Given the description of an element on the screen output the (x, y) to click on. 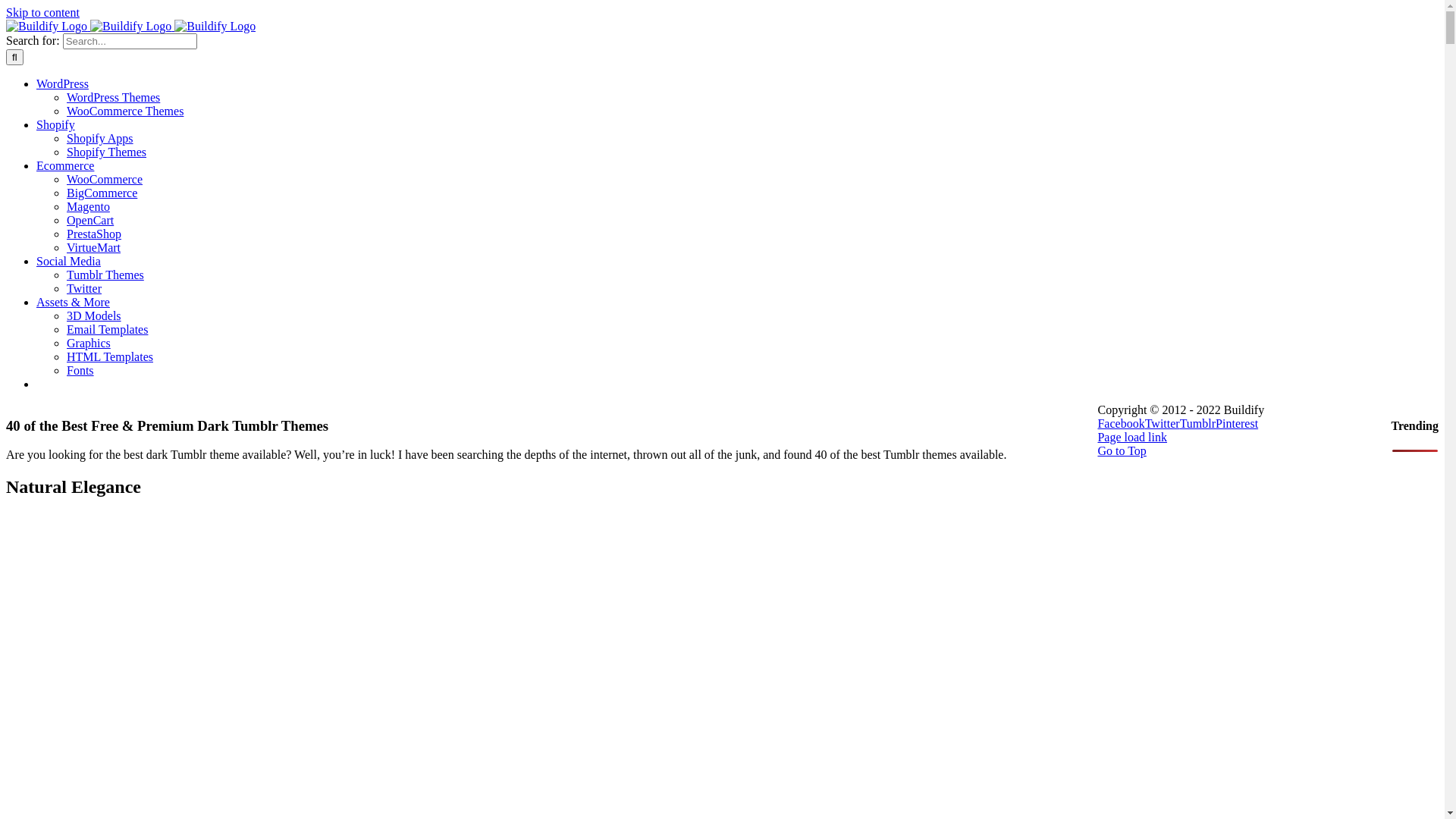
Assets & More Element type: text (72, 301)
Magento Element type: text (87, 206)
Social Media Element type: text (68, 260)
Shopify Element type: text (55, 124)
Facebook Element type: text (1120, 423)
BigCommerce Element type: text (101, 192)
WooCommerce Themes Element type: text (124, 110)
Pinterest Element type: text (1236, 423)
Tumblr Themes Element type: text (105, 274)
Email Templates Element type: text (106, 329)
Twitter Element type: text (83, 288)
WordPress Themes Element type: text (113, 97)
VirtueMart Element type: text (93, 247)
Page load link Element type: text (1132, 436)
Tumblr Element type: text (1197, 423)
OpenCart Element type: text (89, 219)
Shopify Apps Element type: text (99, 137)
WooCommerce Element type: text (104, 178)
HTML Templates Element type: text (109, 356)
Skip to content Element type: text (42, 12)
Graphics Element type: text (88, 342)
PrestaShop Element type: text (93, 233)
Fonts Element type: text (80, 370)
Shopify Themes Element type: text (106, 151)
Ecommerce Element type: text (65, 165)
WordPress Element type: text (62, 83)
Twitter Element type: text (1162, 423)
3D Models Element type: text (93, 315)
Go to Top Element type: text (1121, 450)
